Given the description of an element on the screen output the (x, y) to click on. 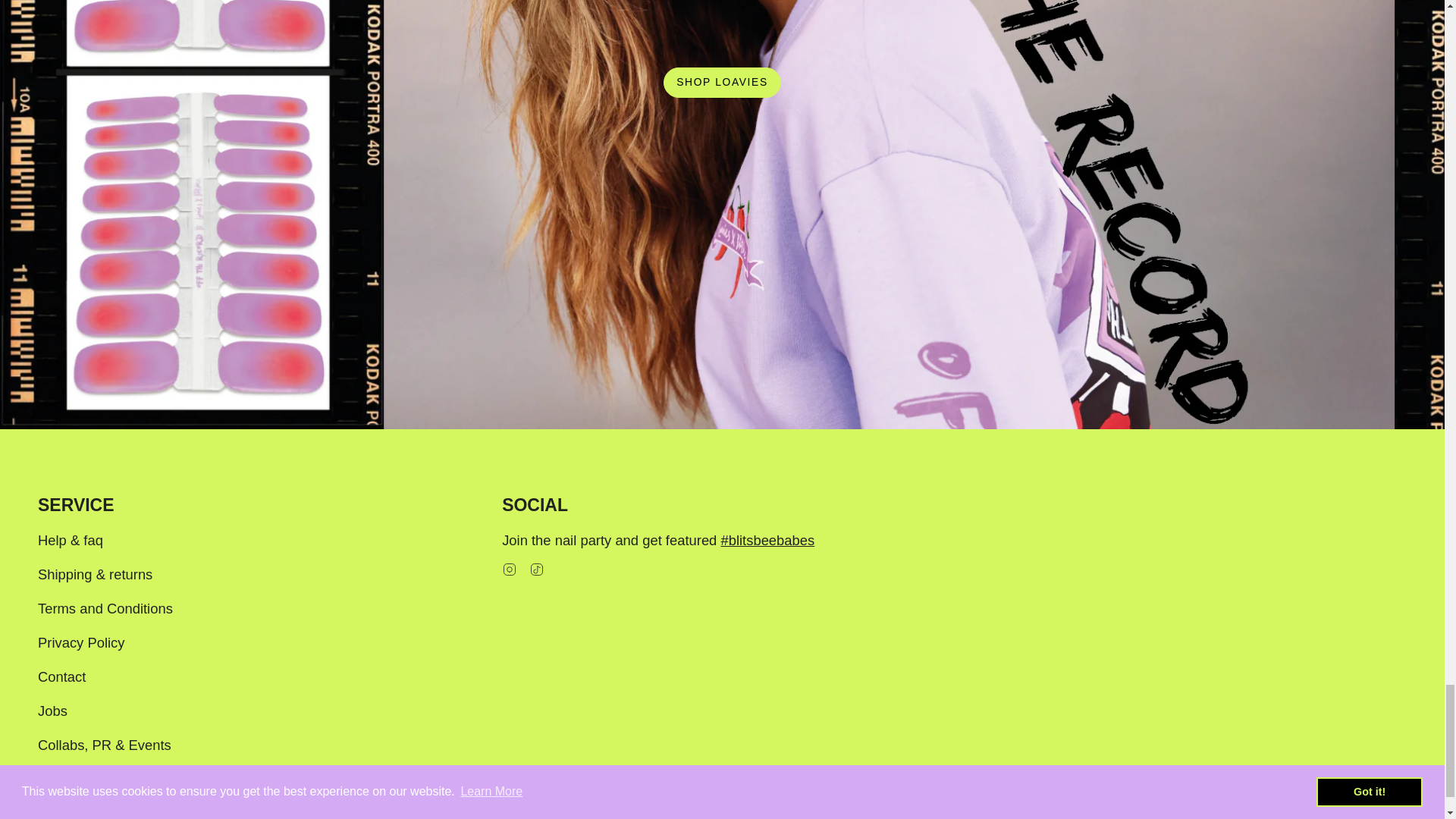
Blitsbee on Instagram (509, 568)
iDEAL (1183, 817)
Mastercard (1253, 817)
PayPal (1288, 817)
Visa (1392, 817)
Maestro (1218, 817)
American Express (1079, 817)
Blitsbee on TikTok (536, 568)
Shop Pay (1322, 817)
Union Pay (1357, 817)
Google Pay (1148, 817)
Apple Pay (1113, 817)
